Given the description of an element on the screen output the (x, y) to click on. 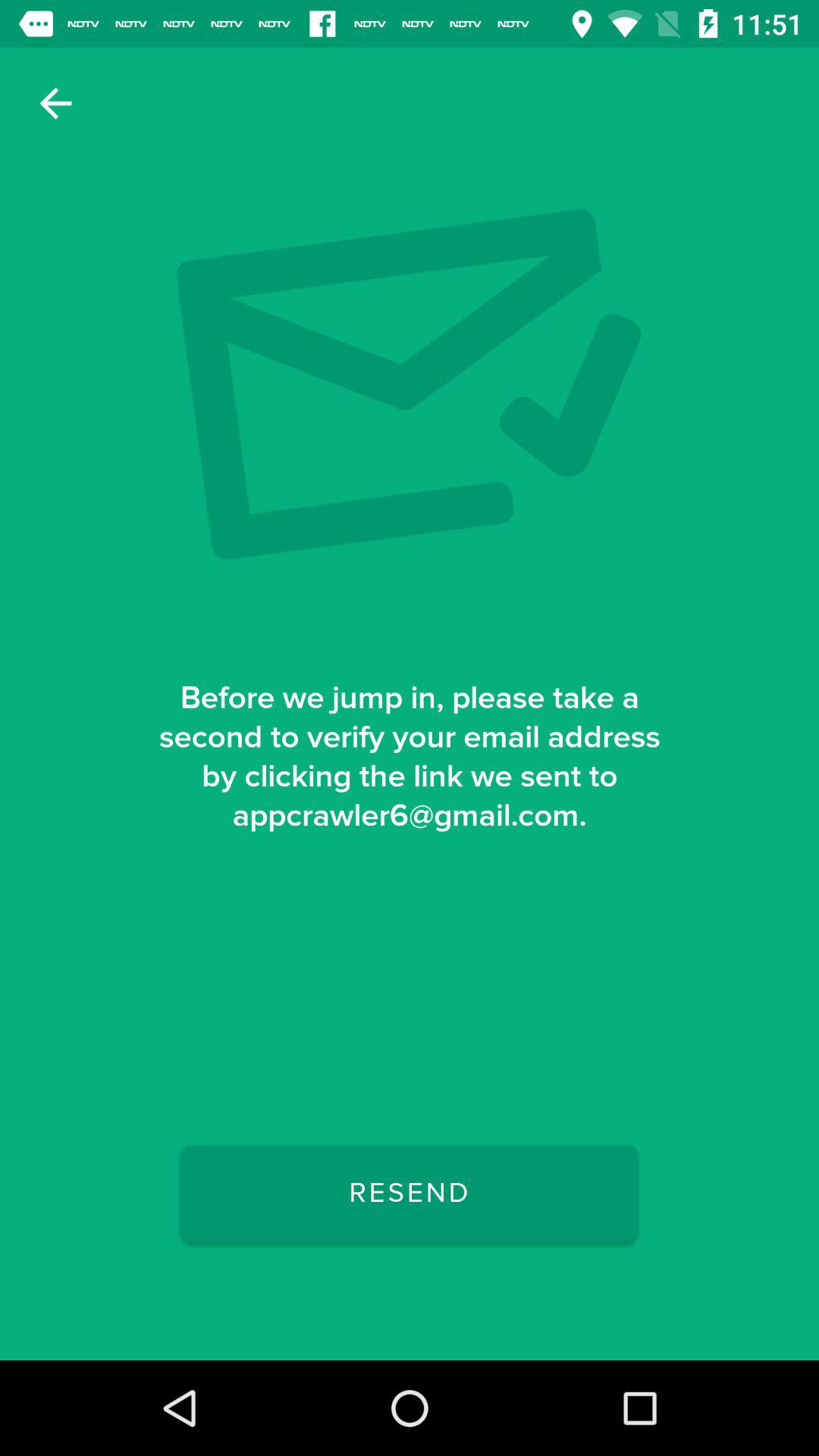
press the item below before we jump (409, 1193)
